Given the description of an element on the screen output the (x, y) to click on. 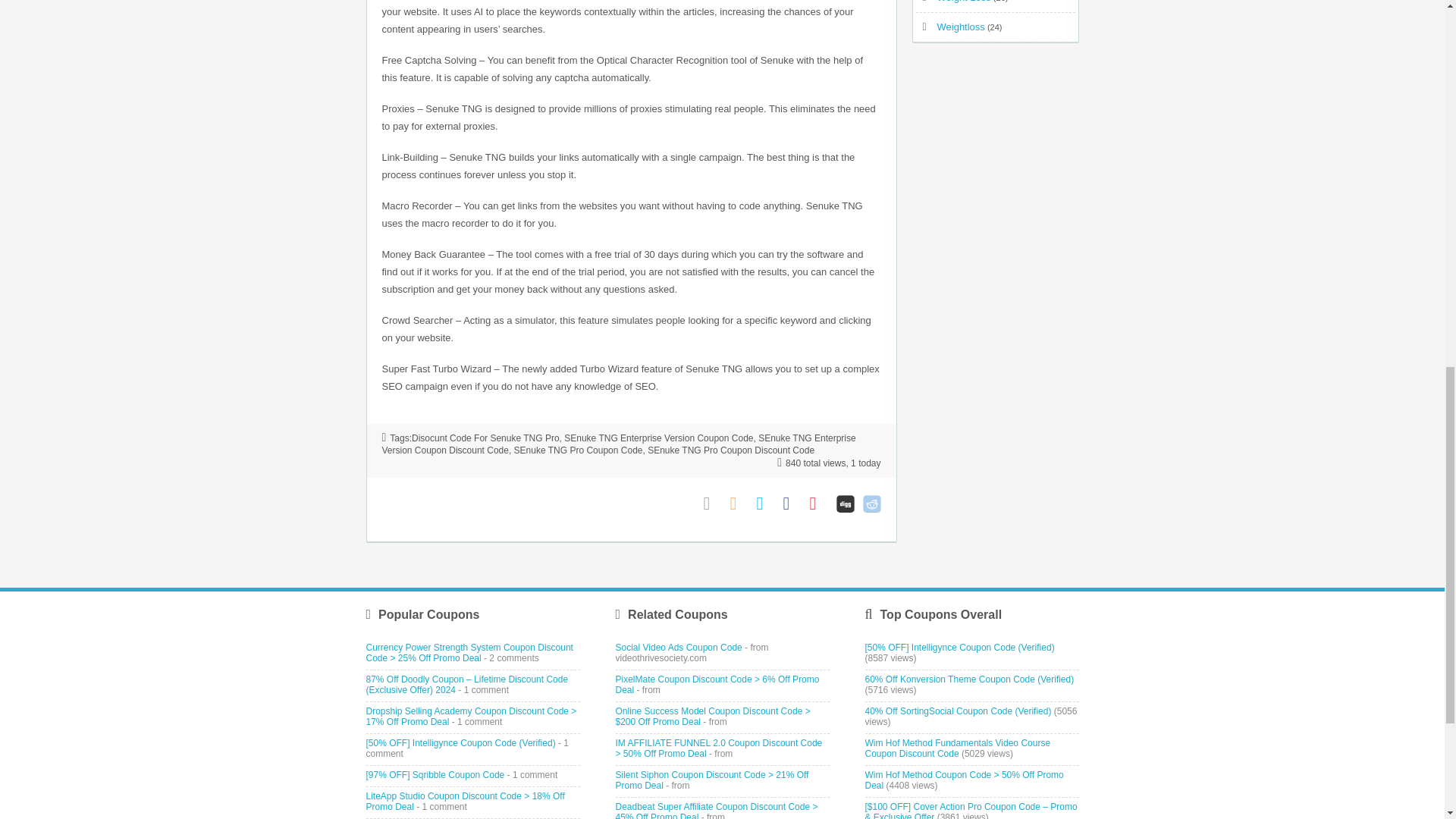
Digg (844, 503)
SEnuke TNG Pro Coupon Code (578, 450)
Reddit (871, 503)
SEnuke TNG Enterprise Version Coupon Discount Code (618, 444)
SEnuke TNG Enterprise Version Coupon Code (658, 438)
Email to Friend (712, 503)
SEnuke TNG Pro Coupon Discount Code (730, 450)
Coupon Comments RSS (738, 503)
Disocunt Code For Senuke TNG Pro (485, 438)
Twitter (765, 503)
Facebook (791, 503)
Pinterest (818, 503)
